Given the description of an element on the screen output the (x, y) to click on. 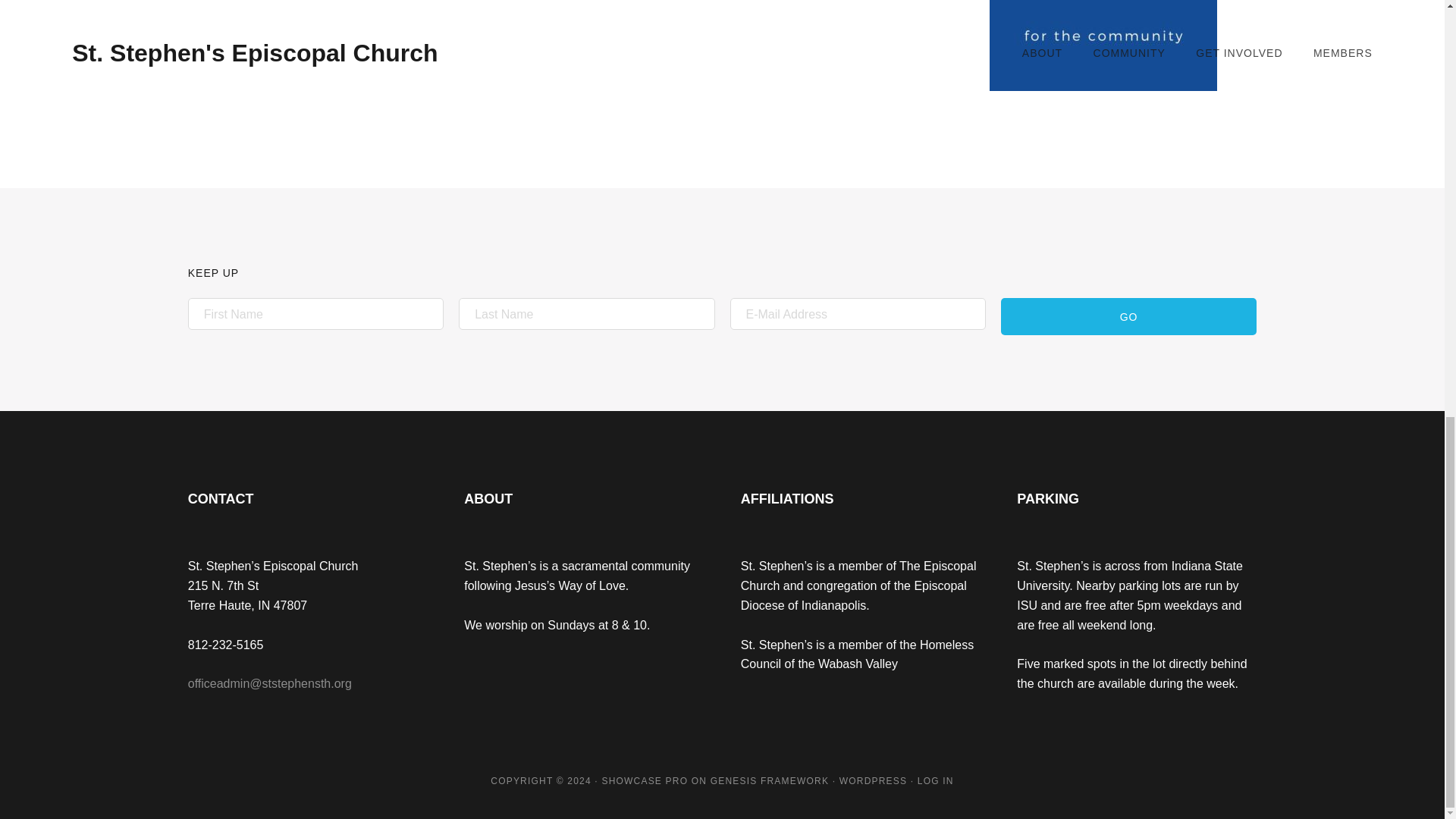
Go (1128, 316)
